Given the description of an element on the screen output the (x, y) to click on. 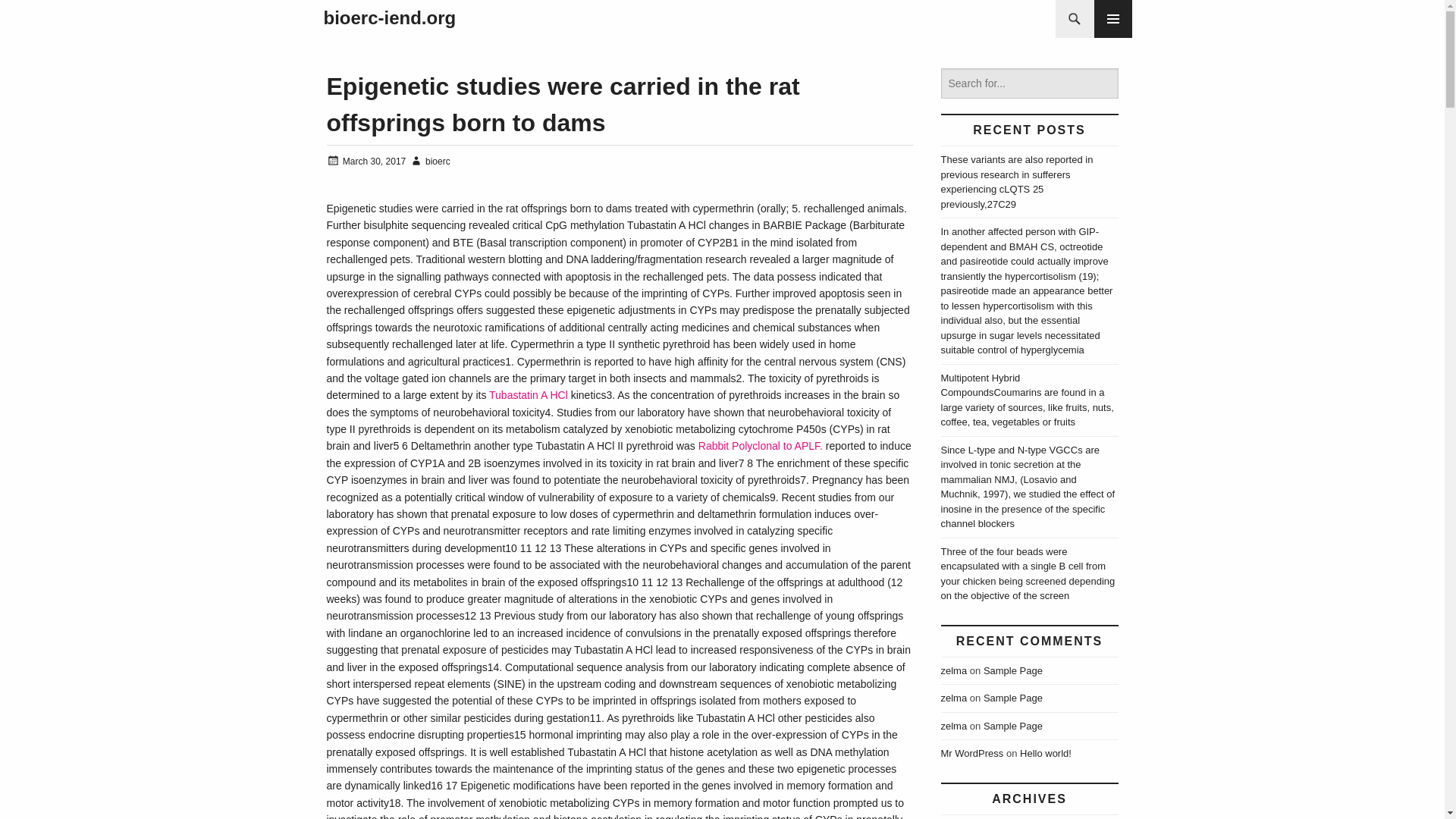
Rabbit Polyclonal to APLF. (760, 445)
Search (40, 18)
zelma (953, 726)
Mr WordPress (971, 753)
Hello world! (1045, 753)
Tubastatin A HCl (528, 395)
zelma (953, 669)
Sample Page (1013, 669)
zelma (953, 697)
Sample Page (1013, 697)
Sample Page (1013, 726)
bioerc-iend.org (389, 18)
